Given the description of an element on the screen output the (x, y) to click on. 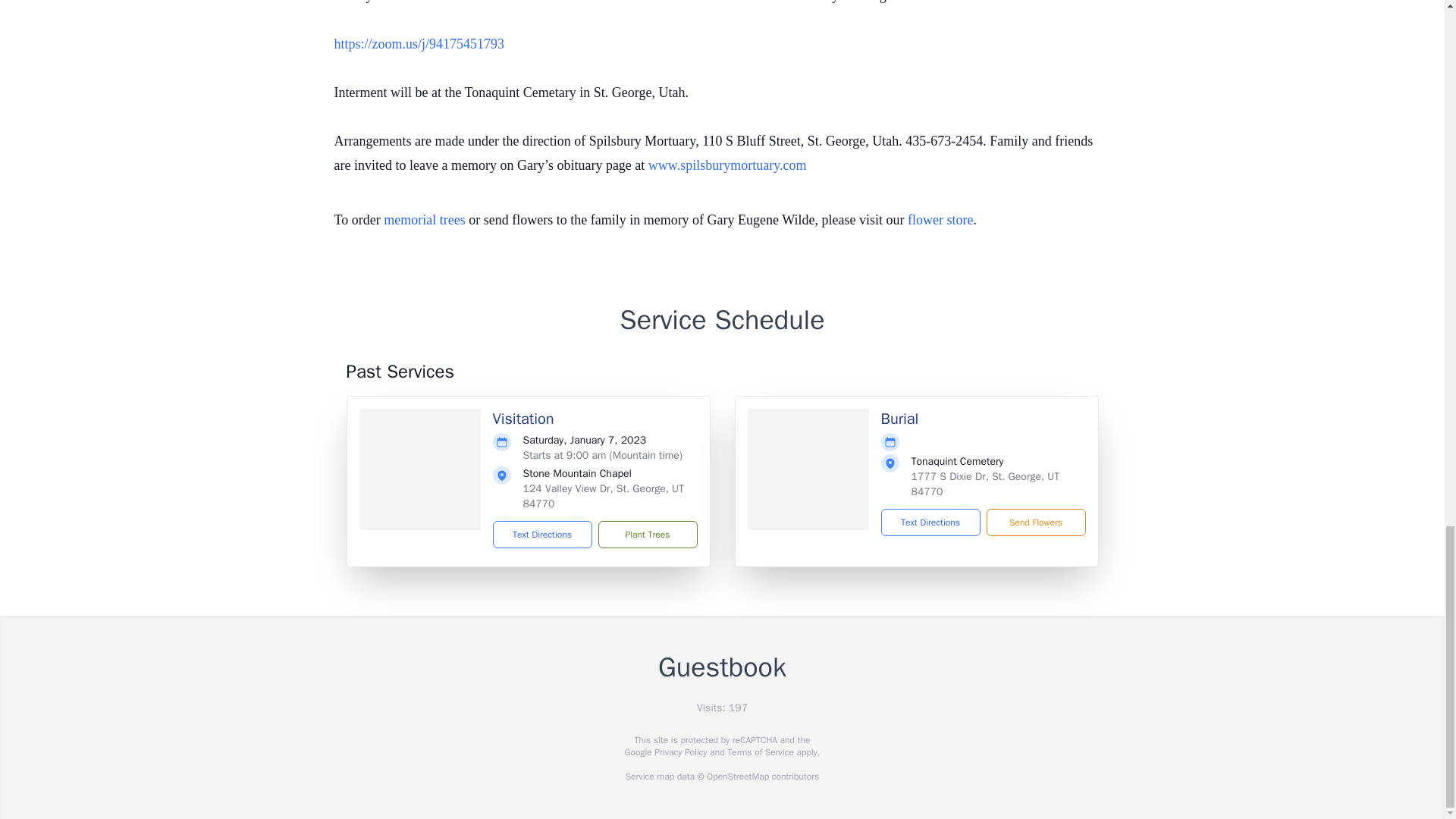
Click to open in a new window or tab (418, 43)
Privacy Policy (679, 752)
memorial trees (424, 219)
www.spilsburymortuary.com (726, 165)
124 Valley View Dr, St. George, UT 84770 (603, 496)
Terms of Service (759, 752)
Send Flowers (1034, 522)
Text Directions (929, 522)
OpenStreetMap (737, 776)
Click to open in a new window or tab (726, 165)
Text Directions (542, 533)
Plant Trees (646, 533)
flower store (939, 219)
1777 S Dixie Dr, St. George, UT 84770 (985, 483)
